Given the description of an element on the screen output the (x, y) to click on. 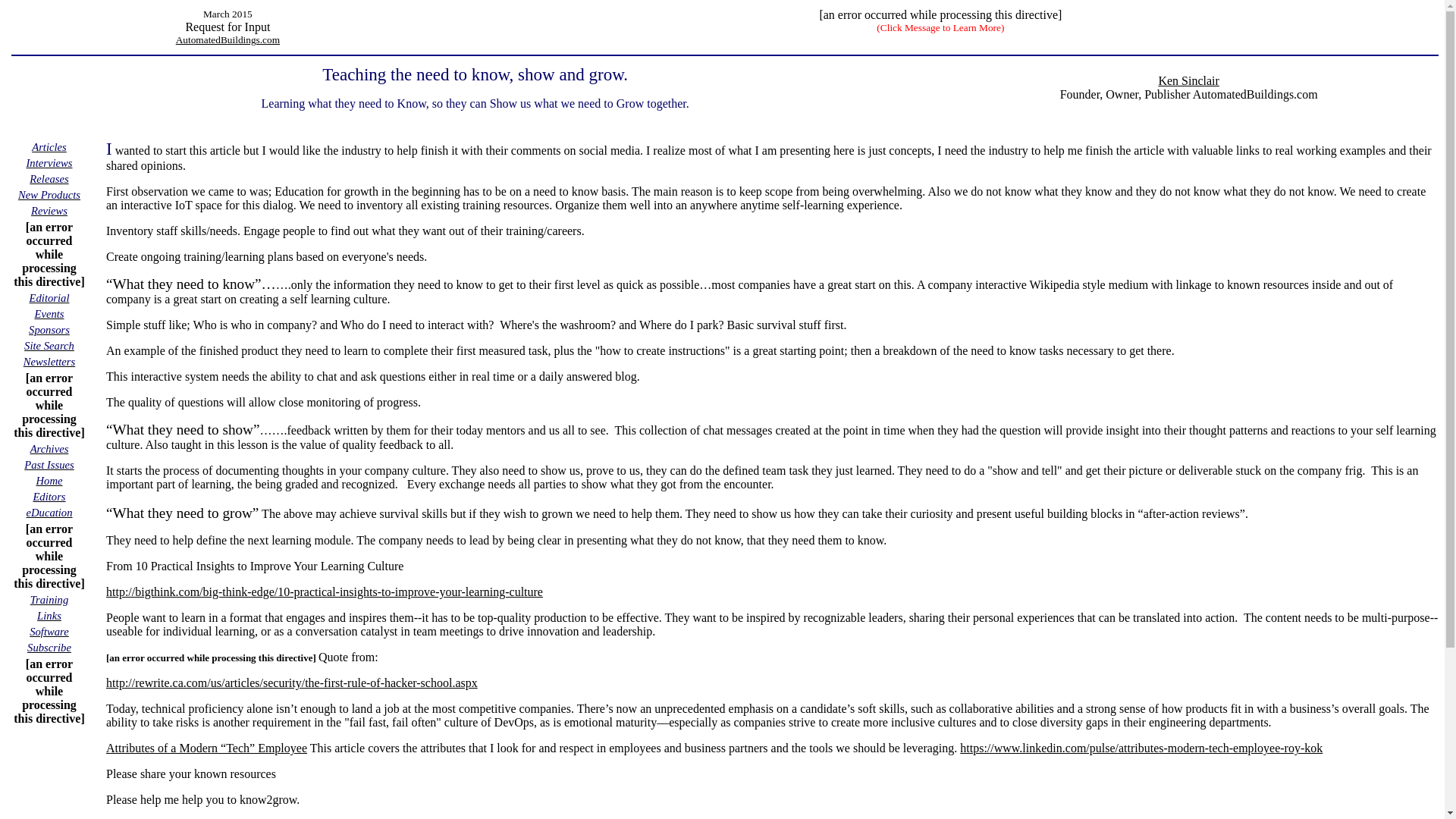
Home (48, 480)
Links (49, 615)
Past Issues (49, 463)
Releases (48, 178)
Newsletters (49, 360)
Articles (49, 146)
Sponsors (49, 328)
Reviews (48, 210)
eDucation (48, 512)
Events (48, 313)
Software (48, 631)
Training (49, 599)
Site Search (49, 345)
New Products (48, 194)
Ken Sinclair (1187, 80)
